Given the description of an element on the screen output the (x, y) to click on. 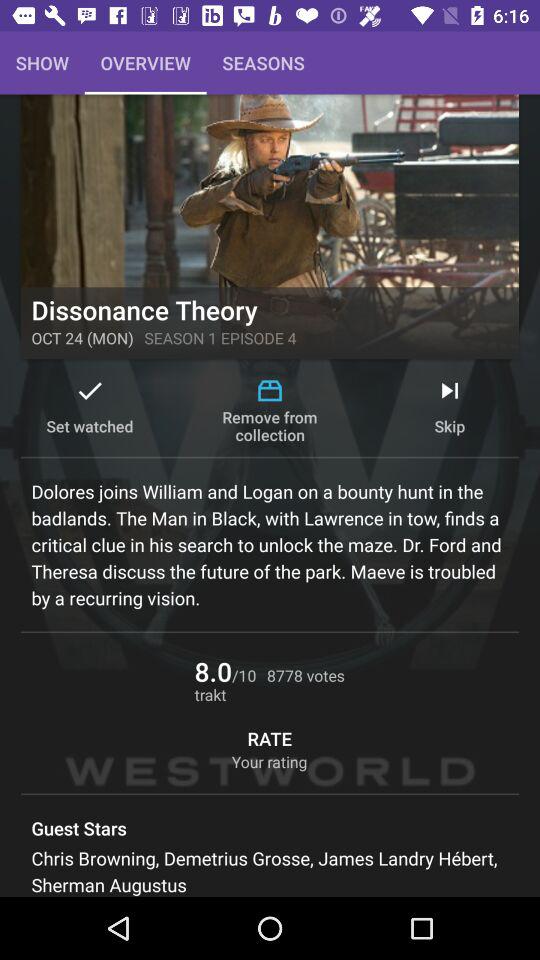
tap the item to the right of set watched icon (270, 410)
